Given the description of an element on the screen output the (x, y) to click on. 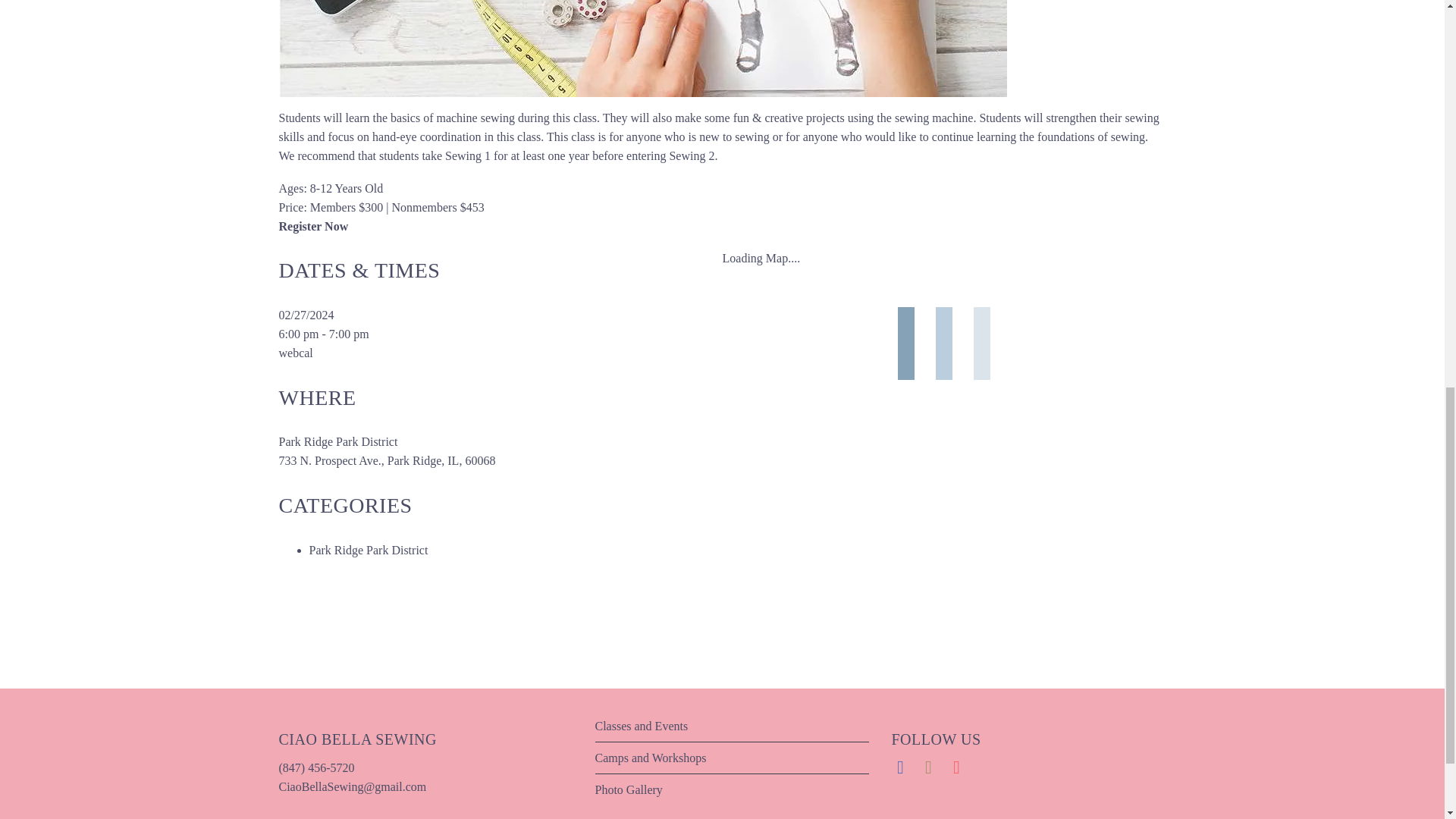
Register Now (314, 226)
Classes and Events (640, 725)
webcal (296, 352)
Photo Gallery (628, 789)
Park Ridge Park District (368, 549)
Park Ridge Park District (338, 440)
Camps and Workshops (650, 757)
